Given the description of an element on the screen output the (x, y) to click on. 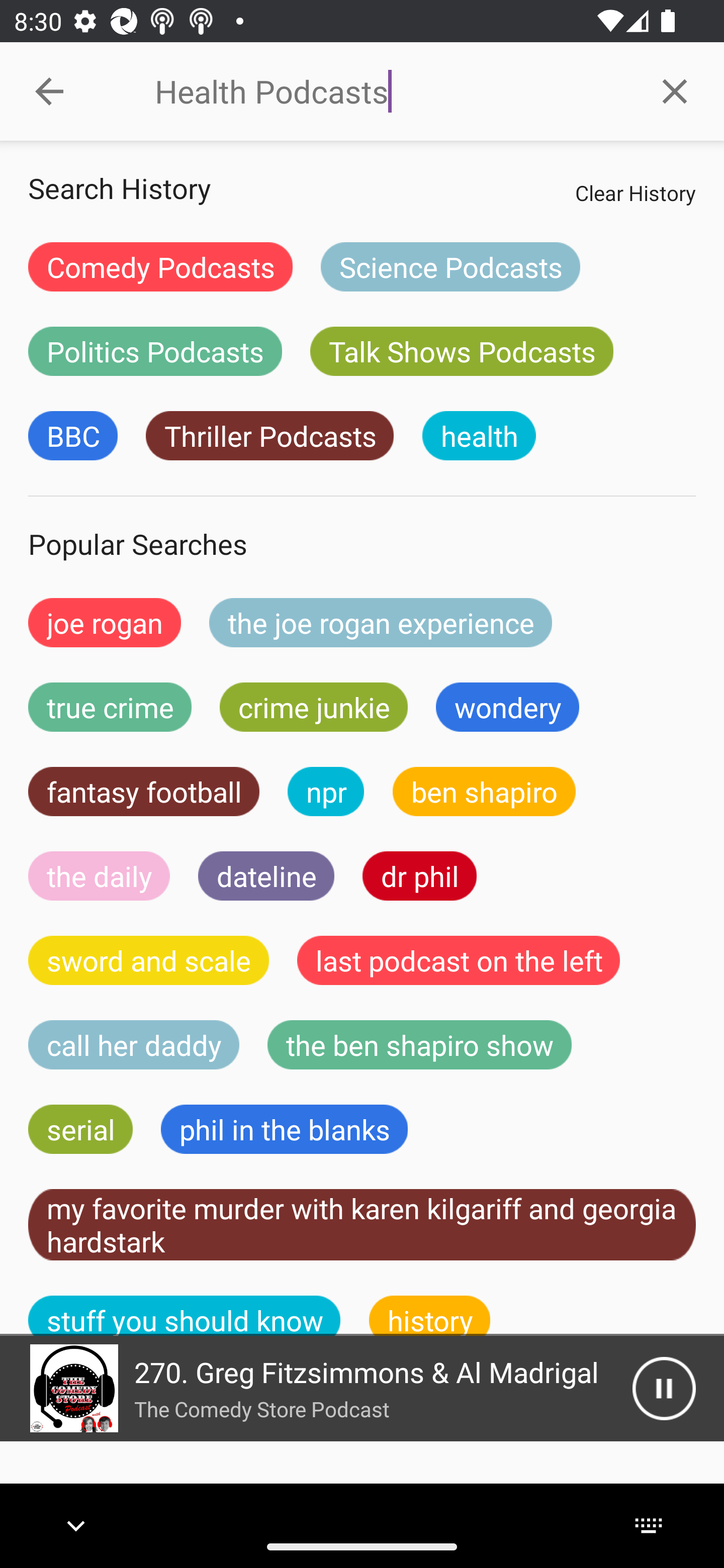
Collapse (49, 91)
Clear query (674, 90)
Health Podcasts (389, 91)
Clear History (634, 192)
Comedy Podcasts (160, 266)
Science Podcasts (449, 266)
Politics Podcasts (155, 351)
Talk Shows Podcasts (461, 351)
BBC (72, 435)
Thriller Podcasts (269, 435)
health (478, 435)
joe rogan (104, 622)
the joe rogan experience (380, 622)
true crime (109, 707)
crime junkie (313, 707)
wondery (507, 707)
fantasy football (143, 791)
npr (325, 791)
ben shapiro (483, 791)
the daily (99, 875)
dateline (266, 875)
dr phil (419, 875)
sword and scale (148, 960)
last podcast on the left (458, 960)
call her daddy (133, 1044)
the ben shapiro show (419, 1044)
serial (80, 1128)
phil in the blanks (283, 1128)
stuff you should know (184, 1315)
history (429, 1315)
Pause (663, 1388)
